Given the description of an element on the screen output the (x, y) to click on. 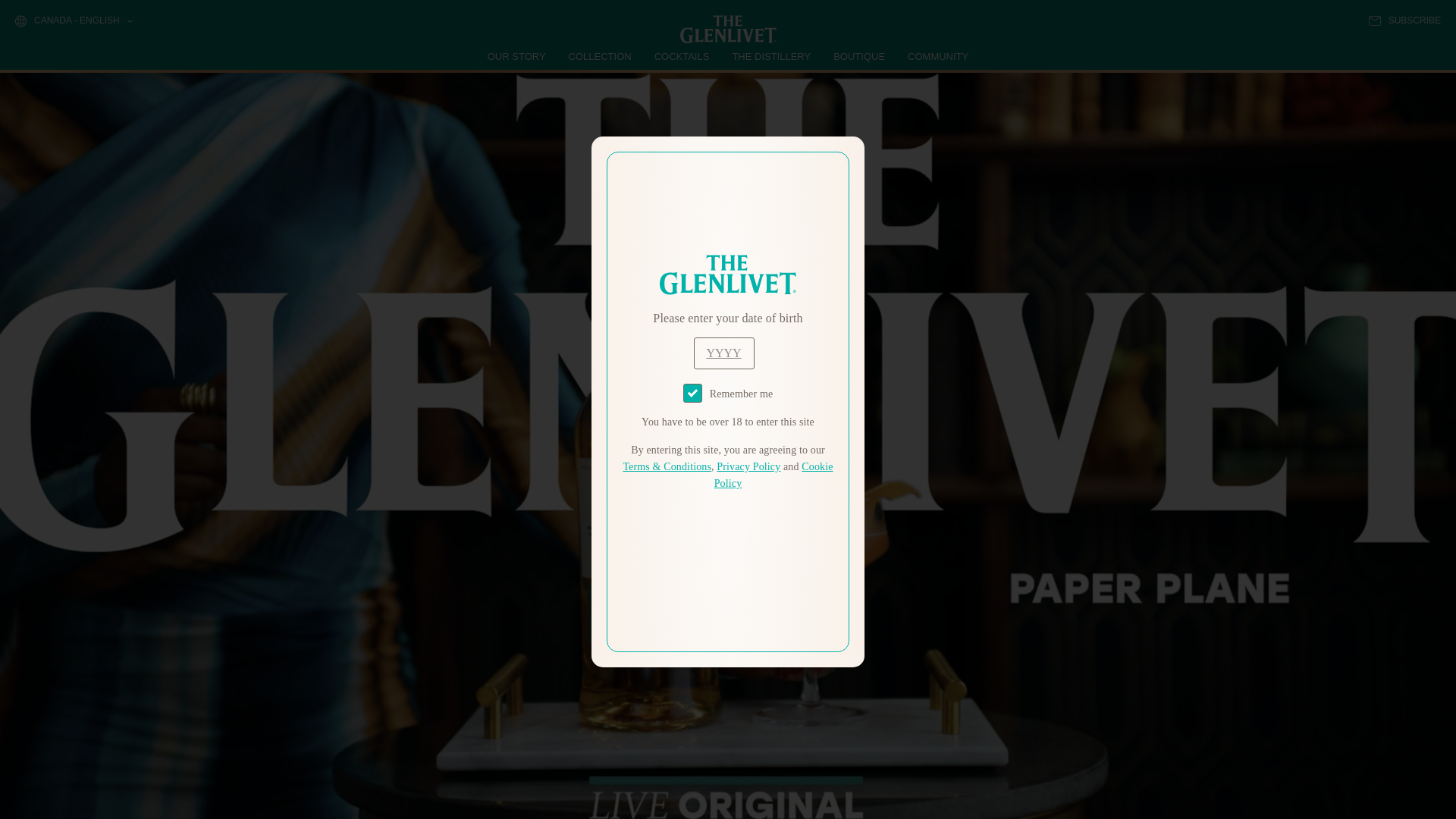
CANADA - ENGLISH (73, 21)
year (723, 353)
COCKTAILS (681, 56)
COLLECTION (600, 56)
Privacy Policy (748, 466)
COMMUNITY (937, 56)
Cookie Policy (773, 474)
BOUTIQUE (858, 56)
THE DISTILLERY (771, 56)
OUR STORY (516, 56)
SUBSCRIBE (1404, 20)
